Given the description of an element on the screen output the (x, y) to click on. 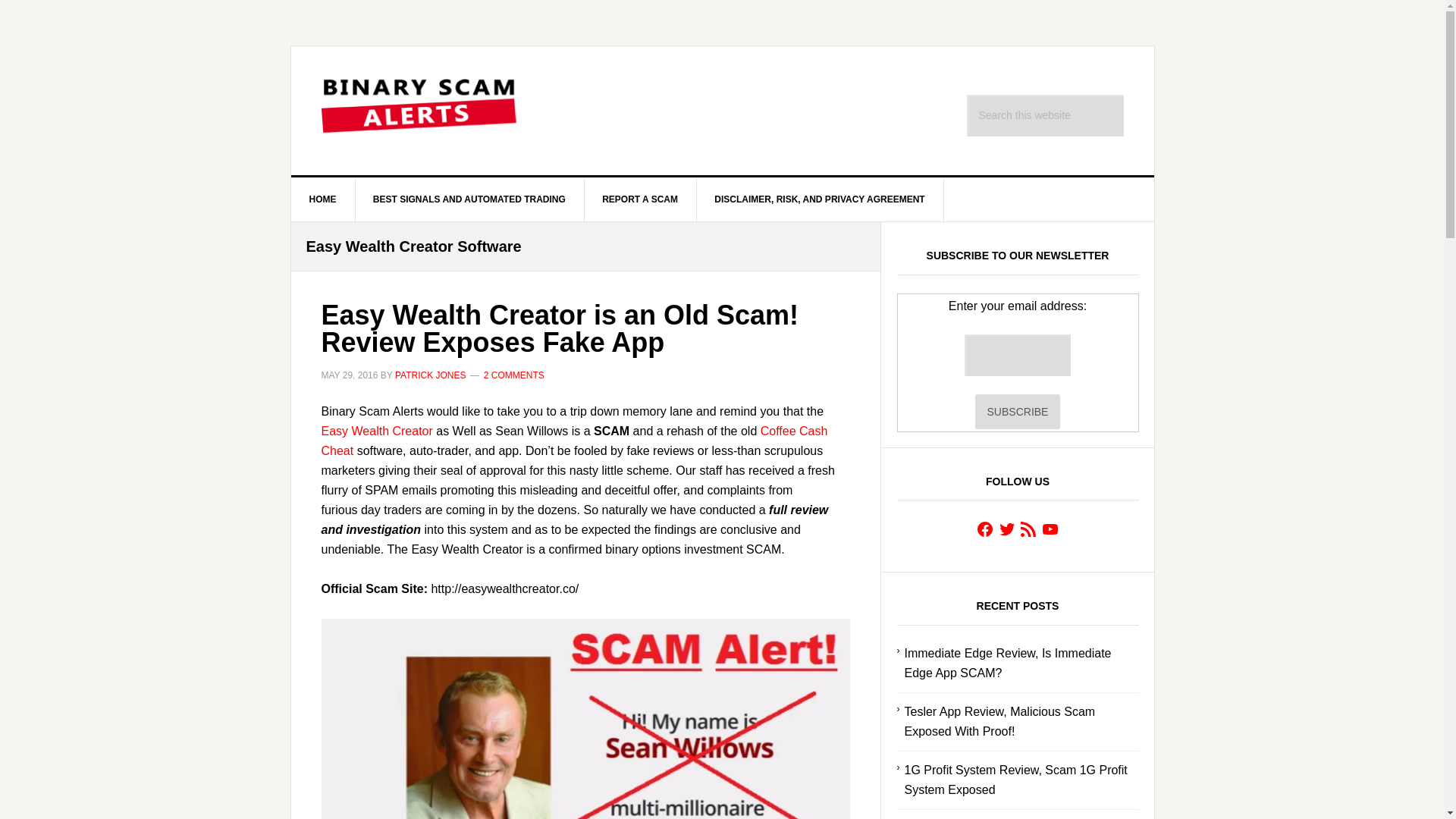
DISCLAIMER, RISK, AND PRIVACY AGREEMENT (819, 199)
Coffee Cash Cheat (574, 441)
2 COMMENTS (513, 375)
HOME (323, 199)
Easy Wealth Creator (585, 719)
BEST SIGNALS AND AUTOMATED TRADING (470, 199)
Easy Wealth Creator is an Old Scam! Review Exposes Fake App (560, 328)
BINARY SCAM ALERTS (419, 110)
PATRICK JONES (429, 375)
Easy Wealth Creator (376, 431)
Subscribe (1018, 411)
REPORT A SCAM (640, 199)
